Given the description of an element on the screen output the (x, y) to click on. 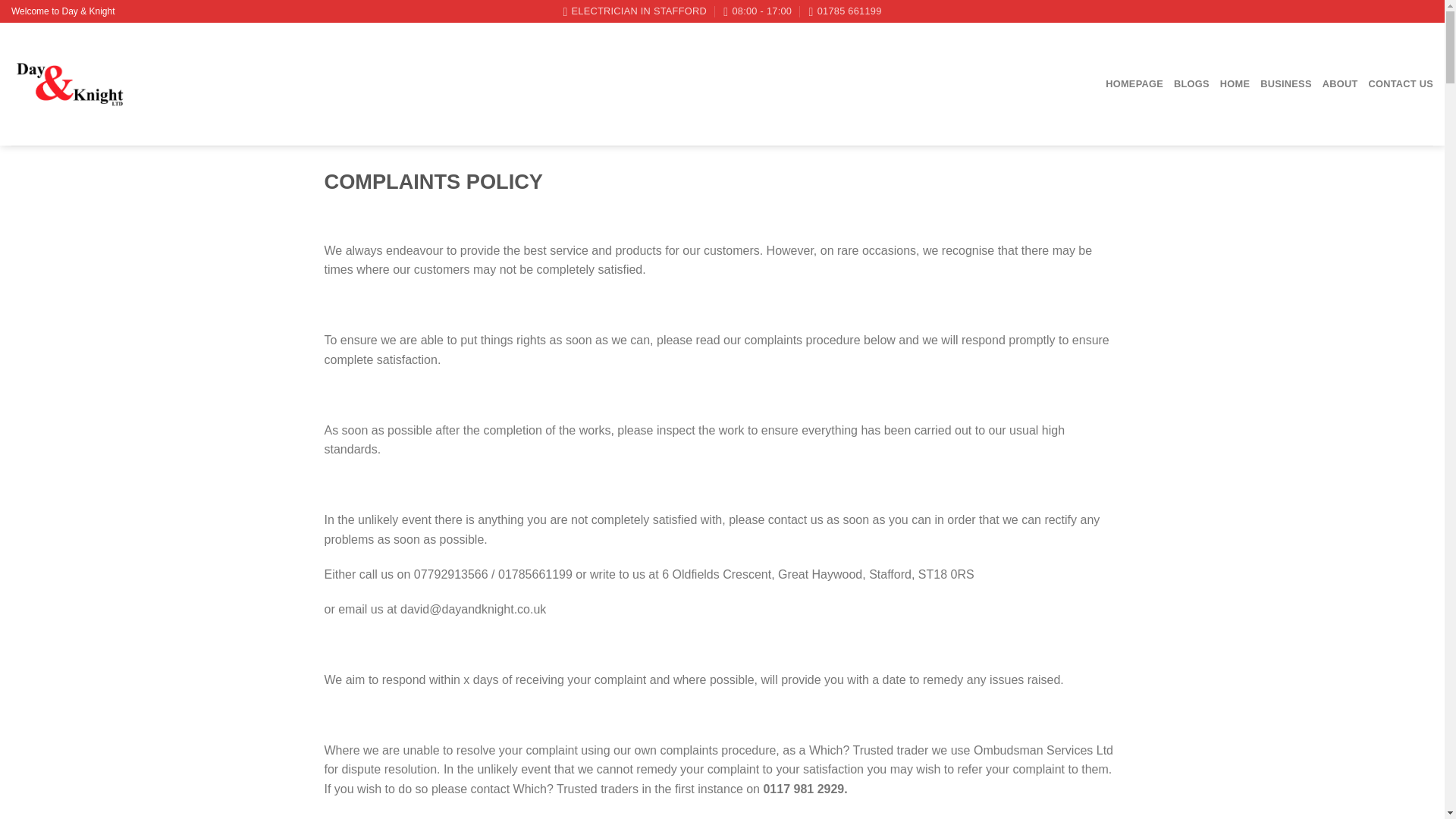
ELECTRICIAN IN STAFFORD (634, 11)
08:00 - 17:00 (757, 11)
Electrician in Stafford - Staffordshire Electrcian (68, 83)
01785 661199 (845, 11)
BLOGS (1191, 83)
ABOUT (1340, 83)
BUSINESS (1285, 83)
CONTACT US (1400, 83)
HOME (1234, 83)
HOMEPAGE (1134, 83)
